Given the description of an element on the screen output the (x, y) to click on. 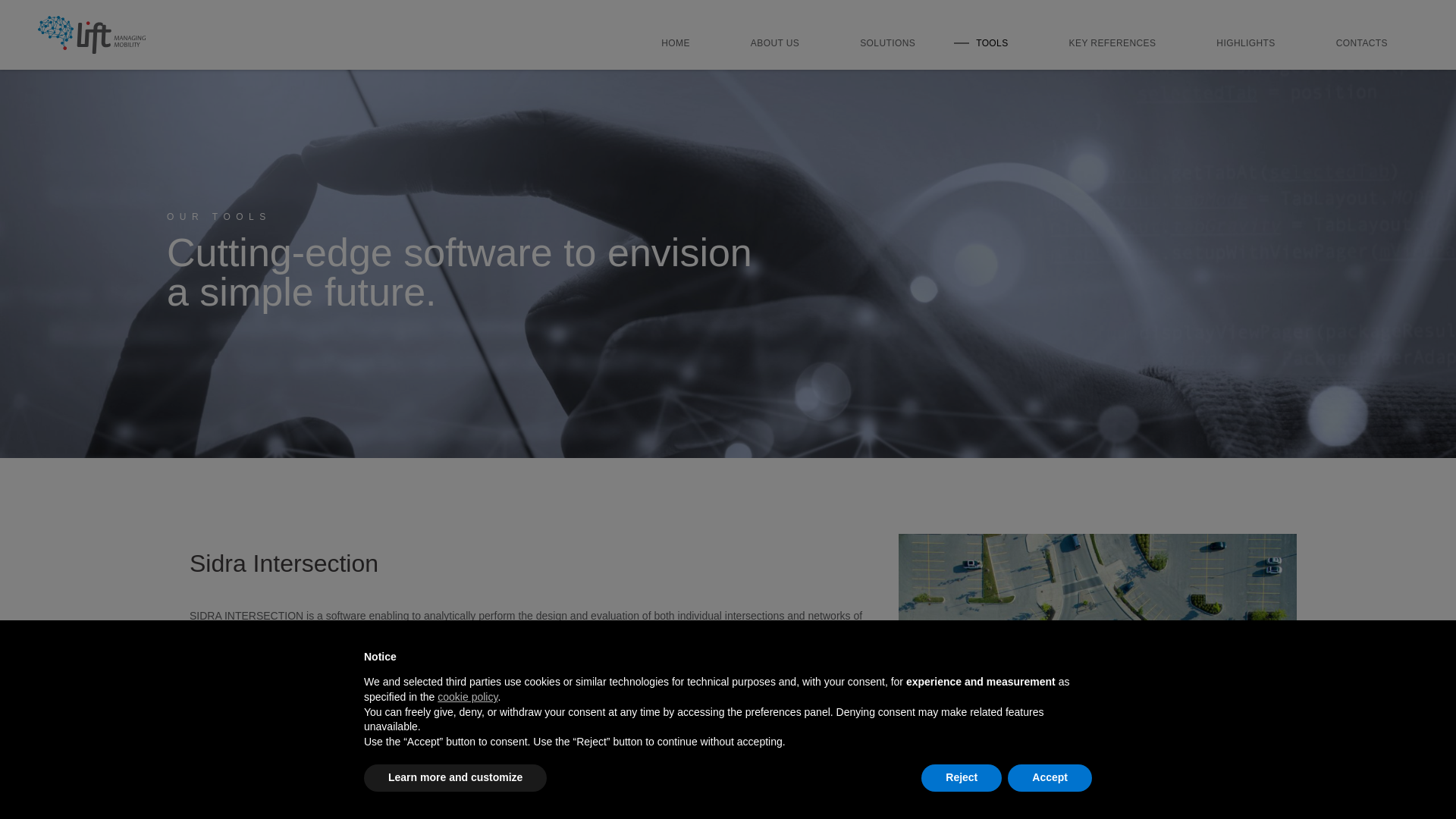
HOME (675, 43)
SOLUTIONS (887, 43)
ABOUT US (774, 43)
CONTACTS (1361, 43)
KEY REFERENCES (1112, 43)
TOOLS (991, 43)
HIGHLIGHTS (1245, 43)
